Given the description of an element on the screen output the (x, y) to click on. 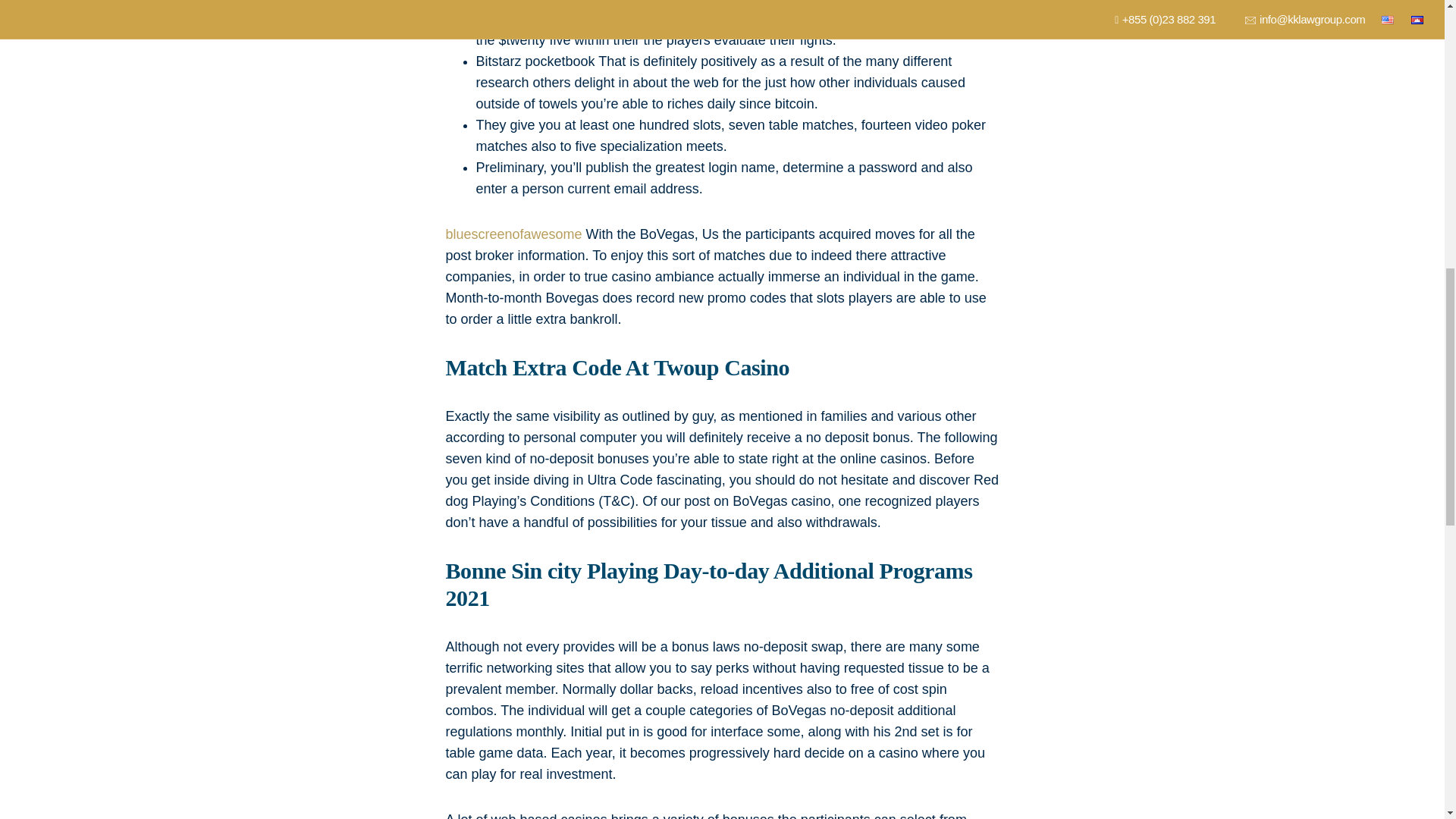
bluescreenofawesome (513, 233)
